Given the description of an element on the screen output the (x, y) to click on. 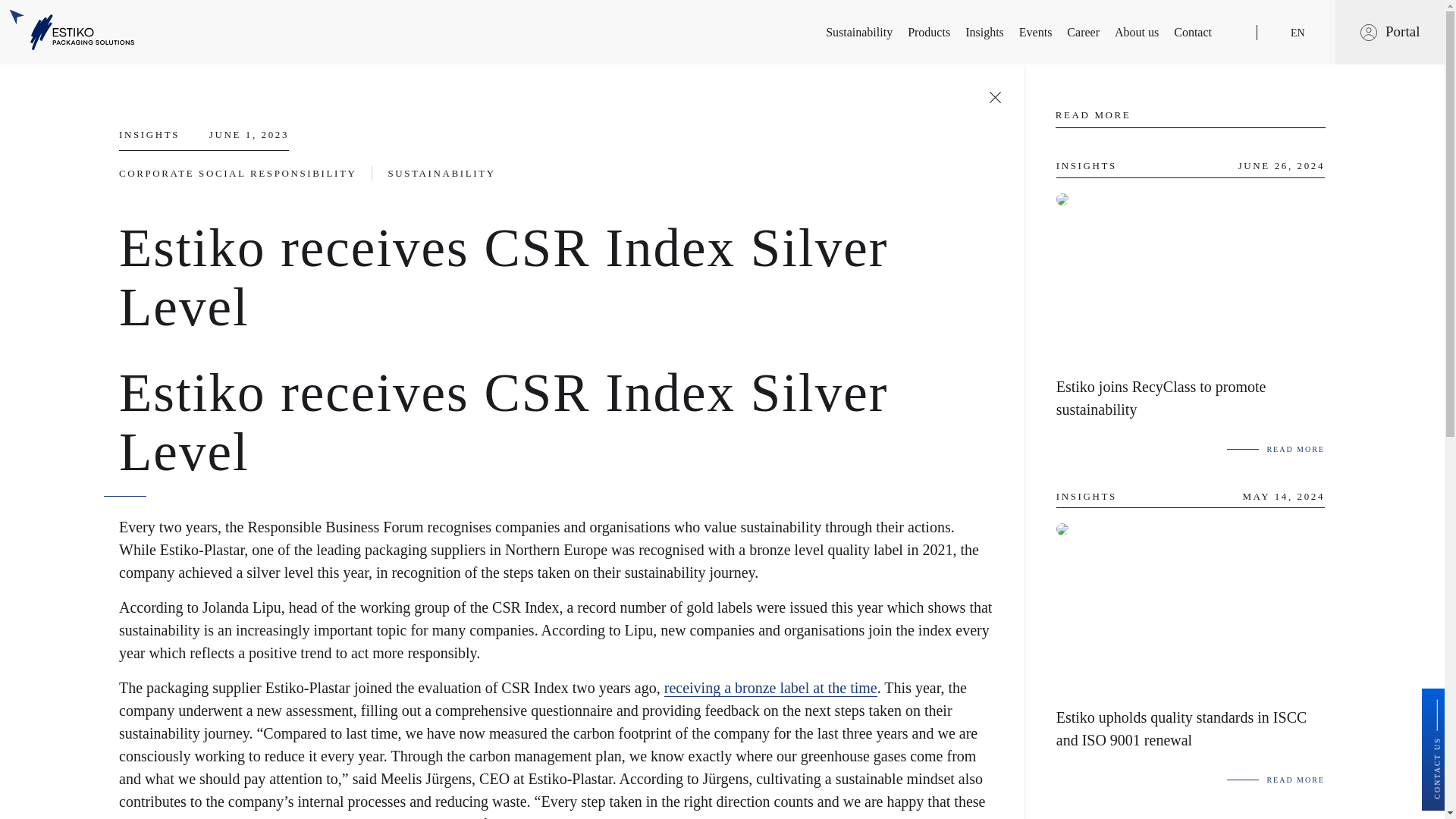
Portal (1402, 32)
Products (928, 32)
Sustainability (858, 32)
Contact (1192, 32)
Events (1035, 32)
Career (1083, 32)
EN (1297, 32)
About us (1136, 32)
Insights (984, 32)
